Given the description of an element on the screen output the (x, y) to click on. 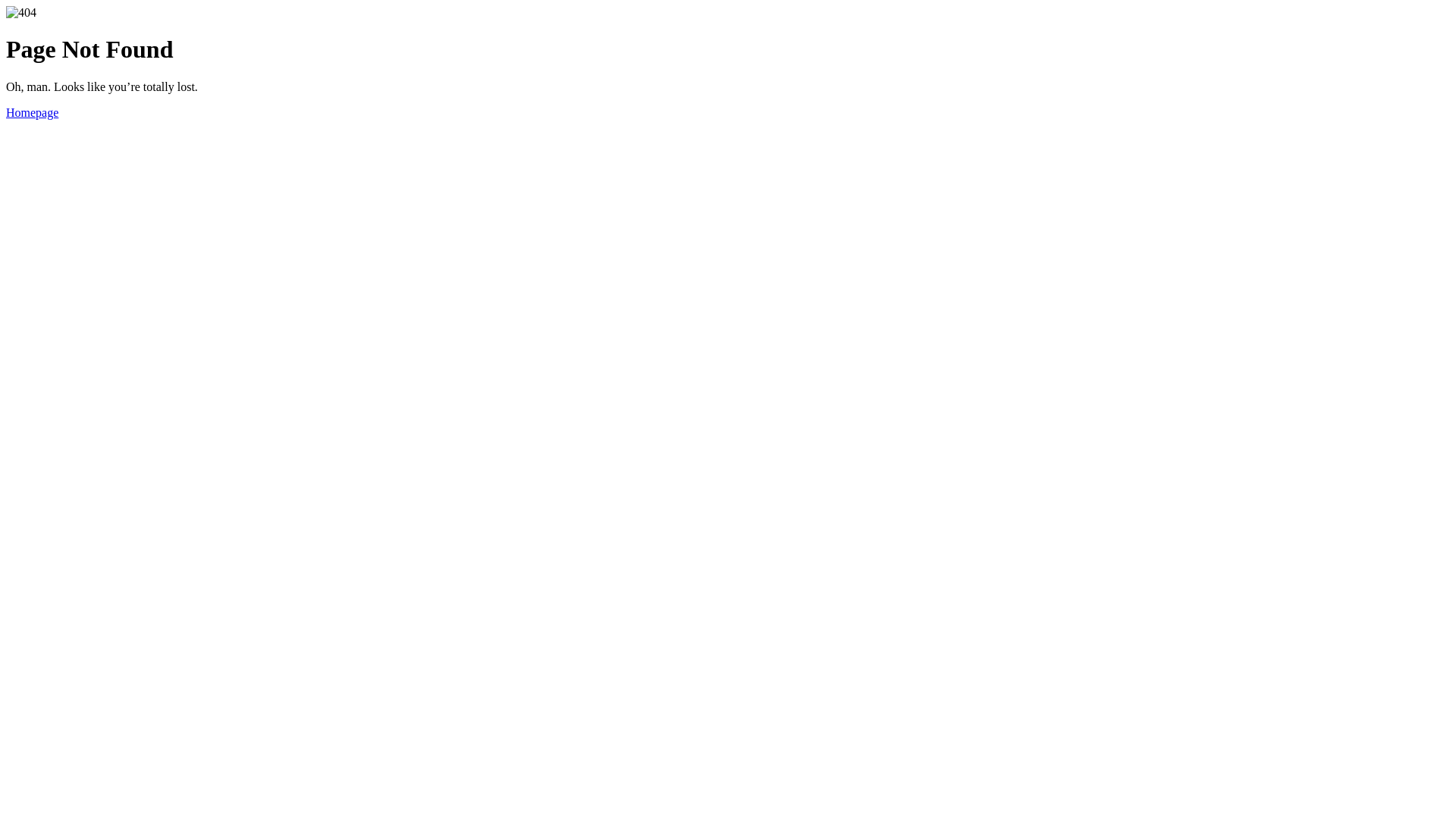
Homepage Element type: text (32, 112)
